Given the description of an element on the screen output the (x, y) to click on. 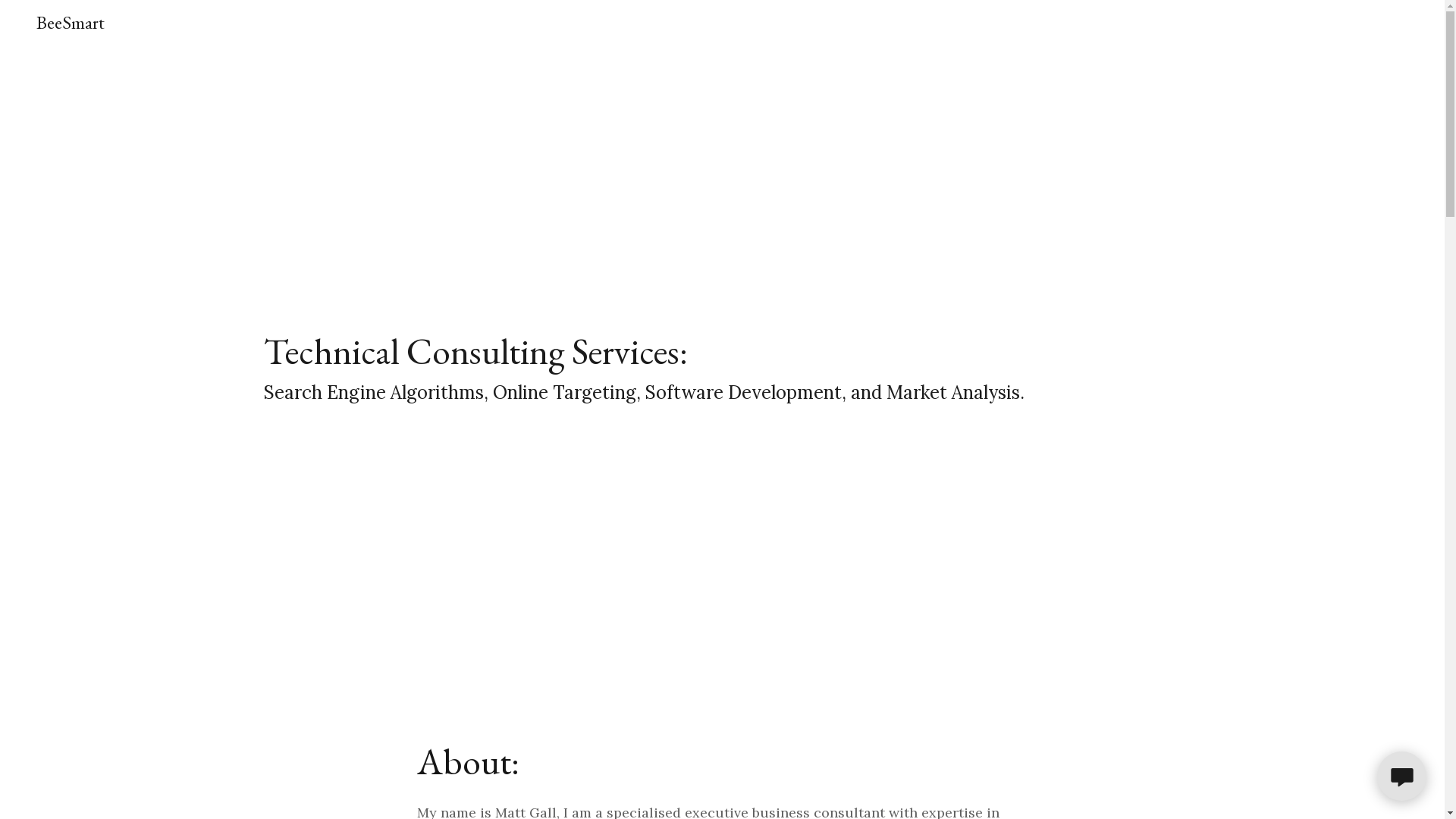
BeeSmart Element type: text (70, 23)
